Given the description of an element on the screen output the (x, y) to click on. 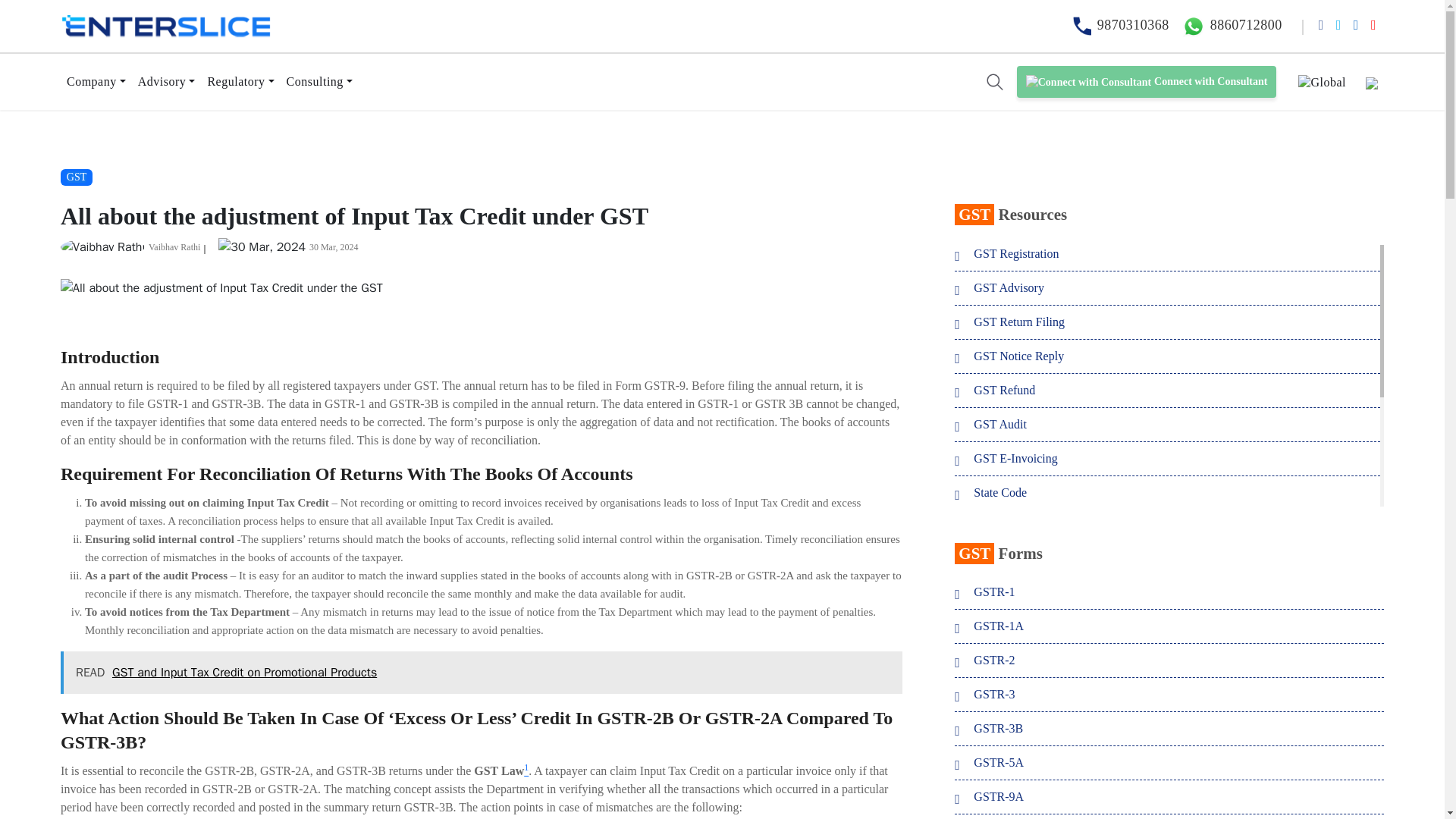
Posts by Vaibhav Rathi (174, 246)
Company (96, 81)
Advisory (167, 81)
8860712800 (1229, 24)
9870310368 (1118, 24)
